Given the description of an element on the screen output the (x, y) to click on. 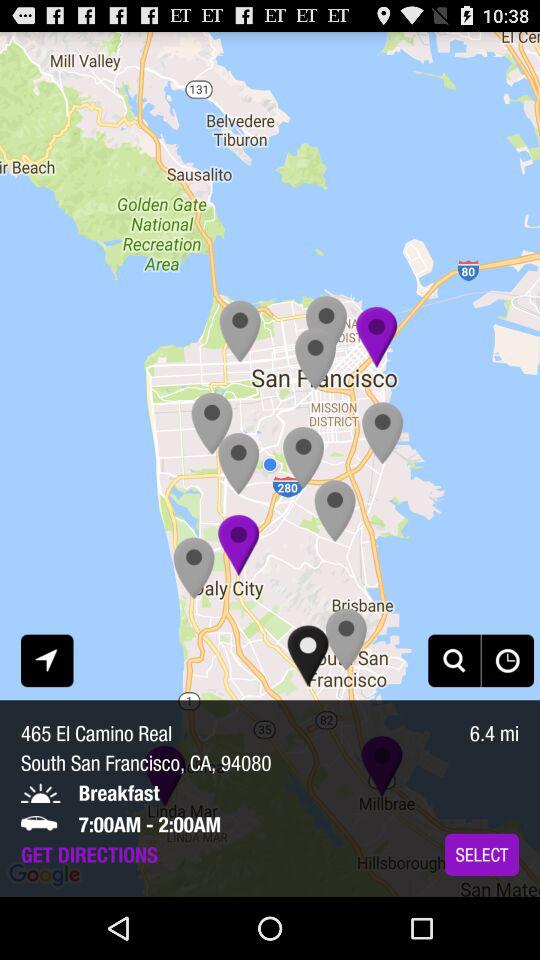
select the select icon (482, 854)
